Given the description of an element on the screen output the (x, y) to click on. 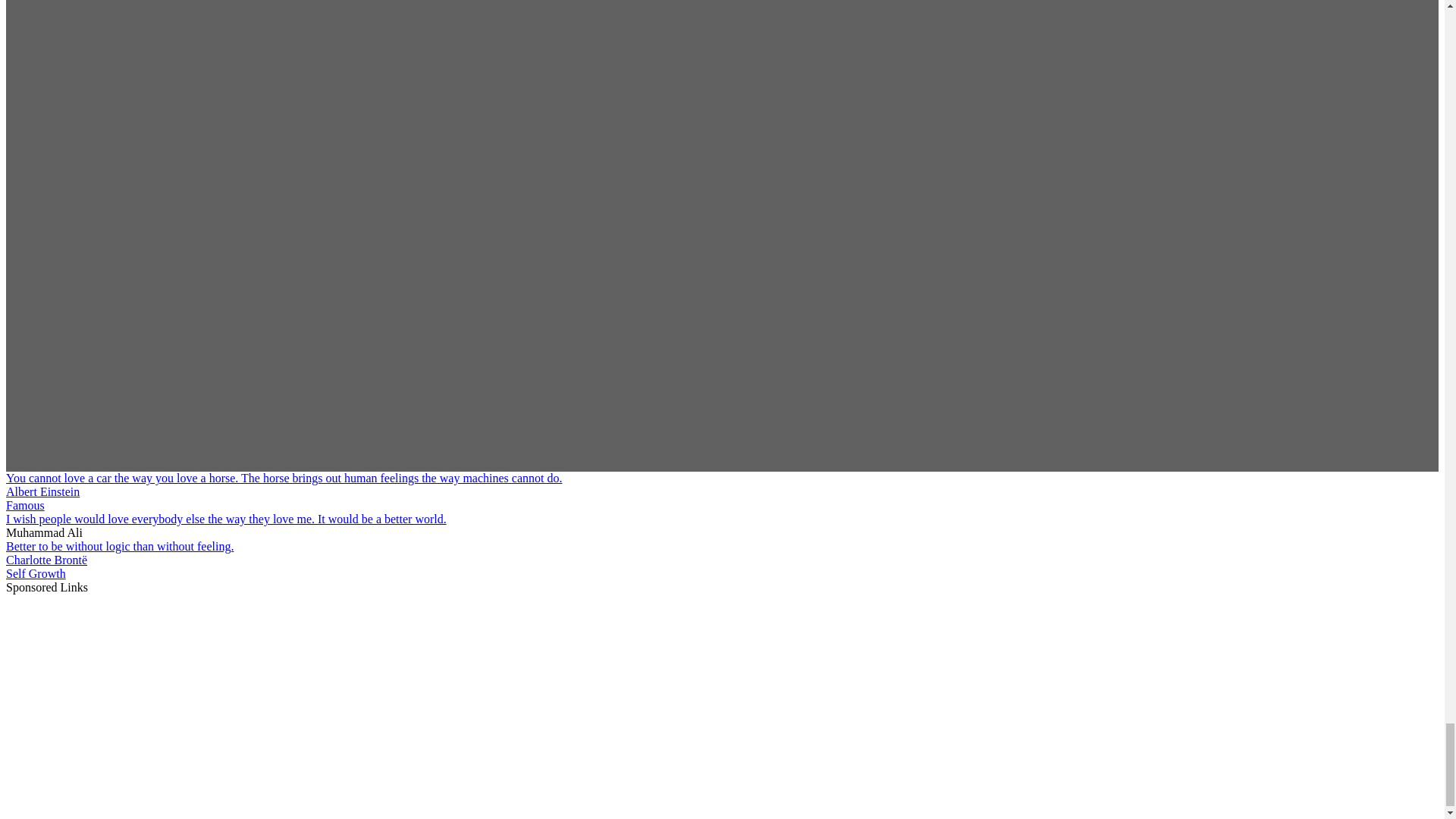
see quote (118, 545)
see quote (225, 518)
see quote (283, 477)
